Given the description of an element on the screen output the (x, y) to click on. 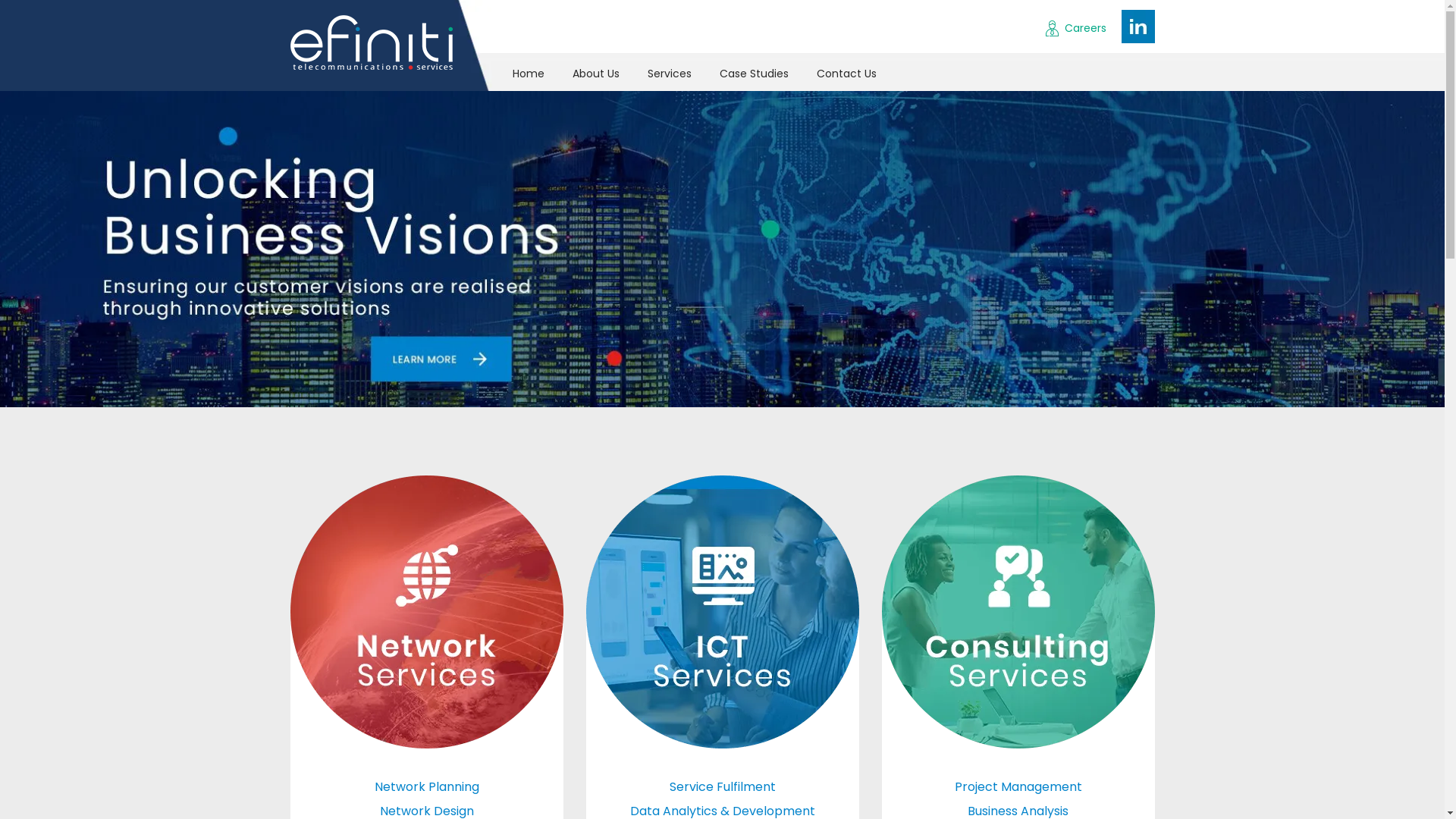
Case Studies Element type: text (753, 72)
linkedin Element type: text (1137, 26)
Services Element type: text (669, 72)
Careers Element type: text (1074, 27)
Contact Us Element type: text (846, 72)
Home Element type: text (528, 72)
Network Planning Element type: text (426, 786)
Service Fulfilment Element type: text (721, 786)
Project Management Element type: text (1017, 786)
About Us Element type: text (595, 72)
